Given the description of an element on the screen output the (x, y) to click on. 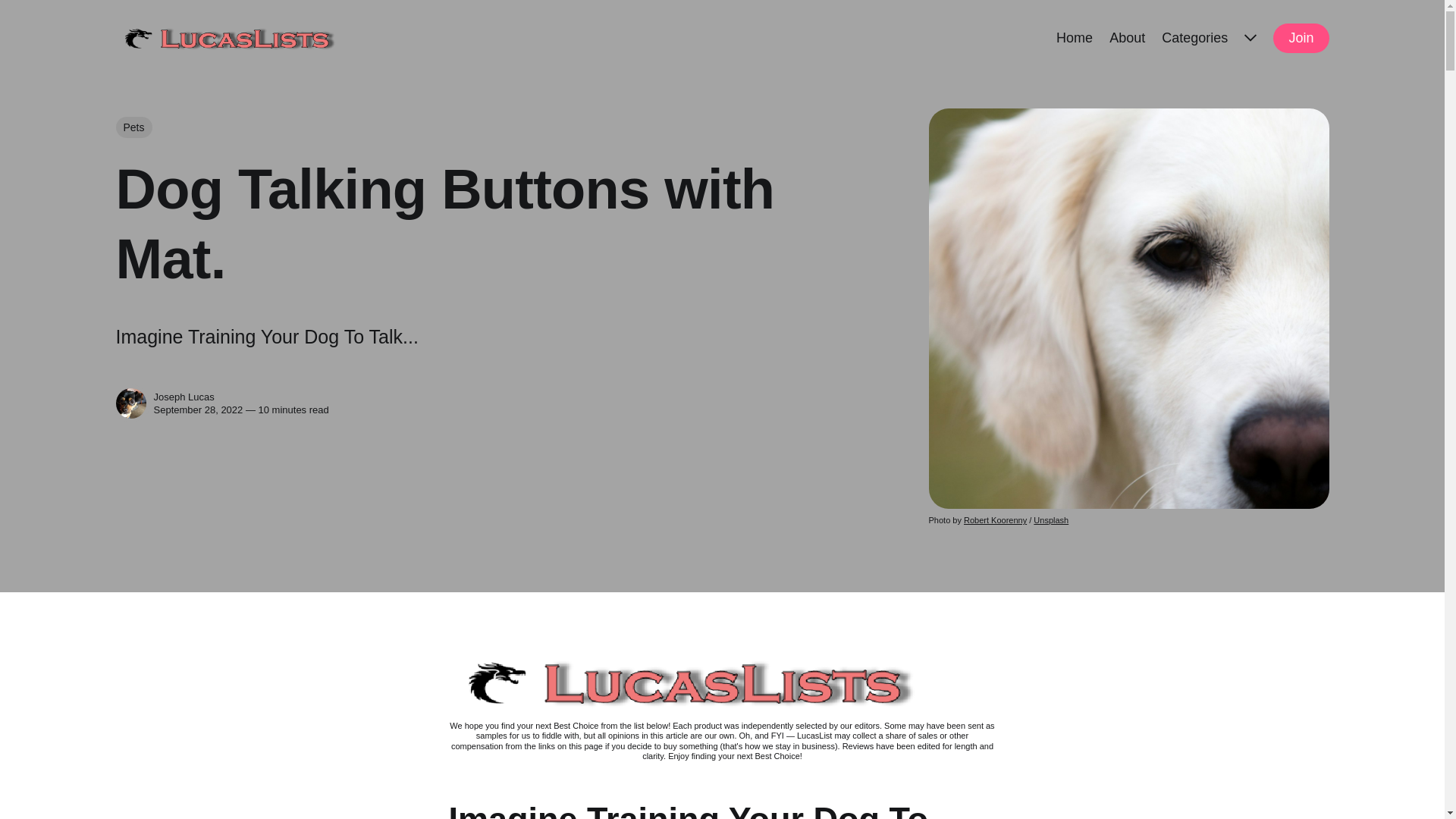
Unsplash (1050, 519)
About (1126, 37)
Categories (1194, 37)
Joseph Lucas (183, 396)
Robert Koorenny (994, 519)
Pets (133, 127)
Home (1075, 37)
Joseph Lucas (130, 403)
Join (1299, 37)
